Given the description of an element on the screen output the (x, y) to click on. 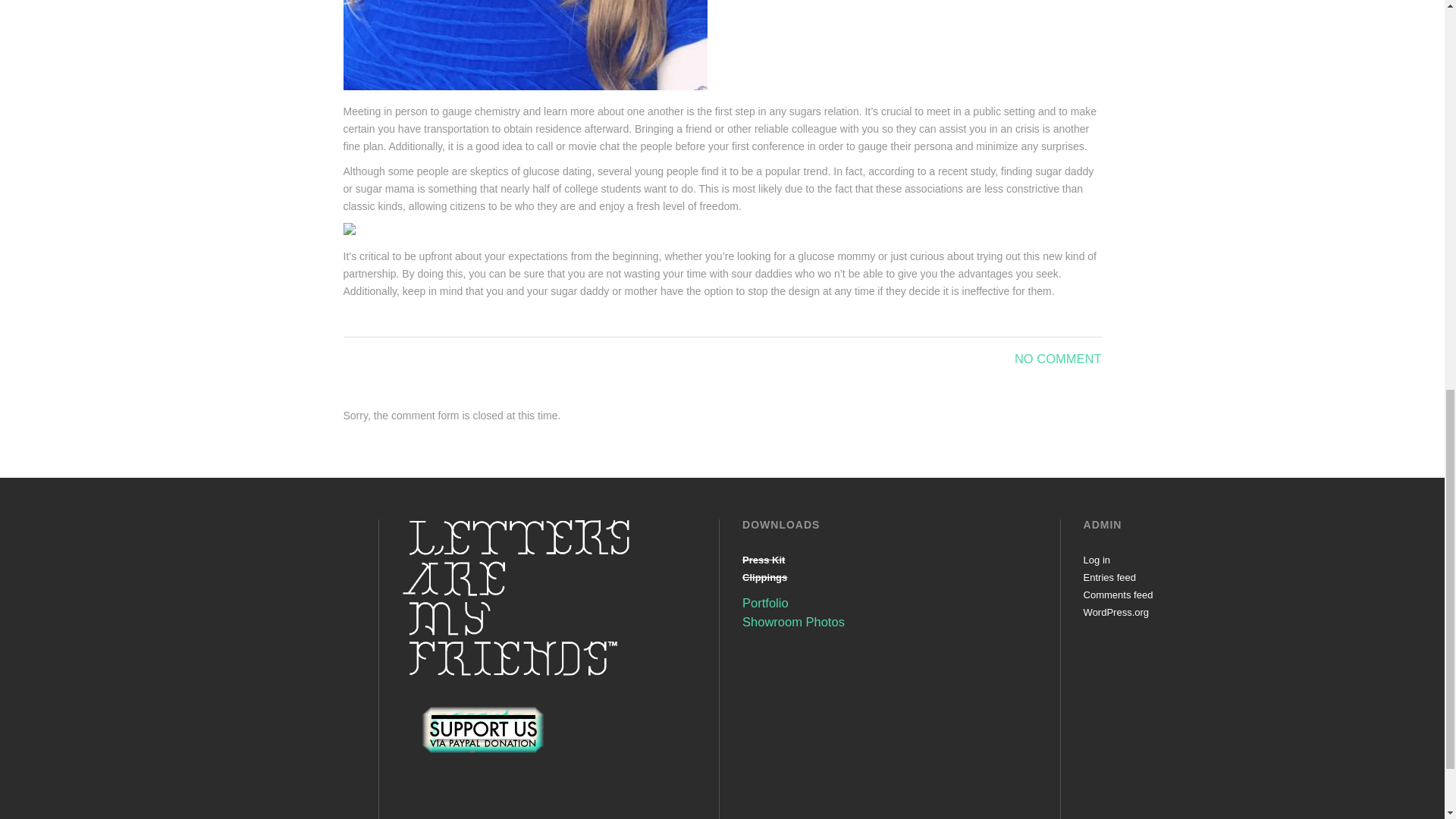
Portfolio (765, 602)
Showroom Photos (793, 621)
Entries feed (1109, 577)
Comments feed (1118, 594)
NO COMMENT (1058, 358)
WordPress.org (1115, 612)
Log in (1096, 559)
